Given the description of an element on the screen output the (x, y) to click on. 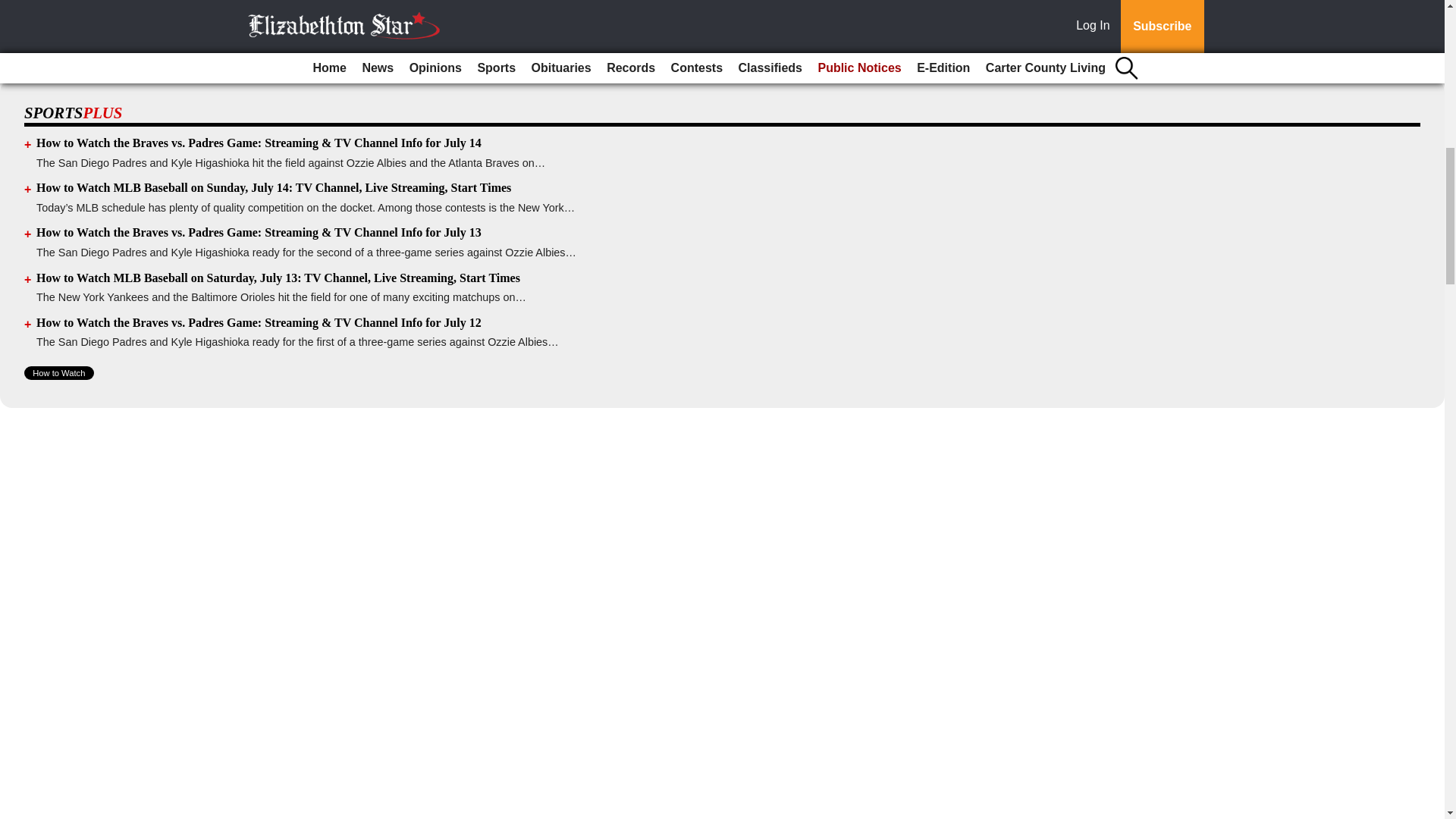
How to Watch (59, 373)
